Given the description of an element on the screen output the (x, y) to click on. 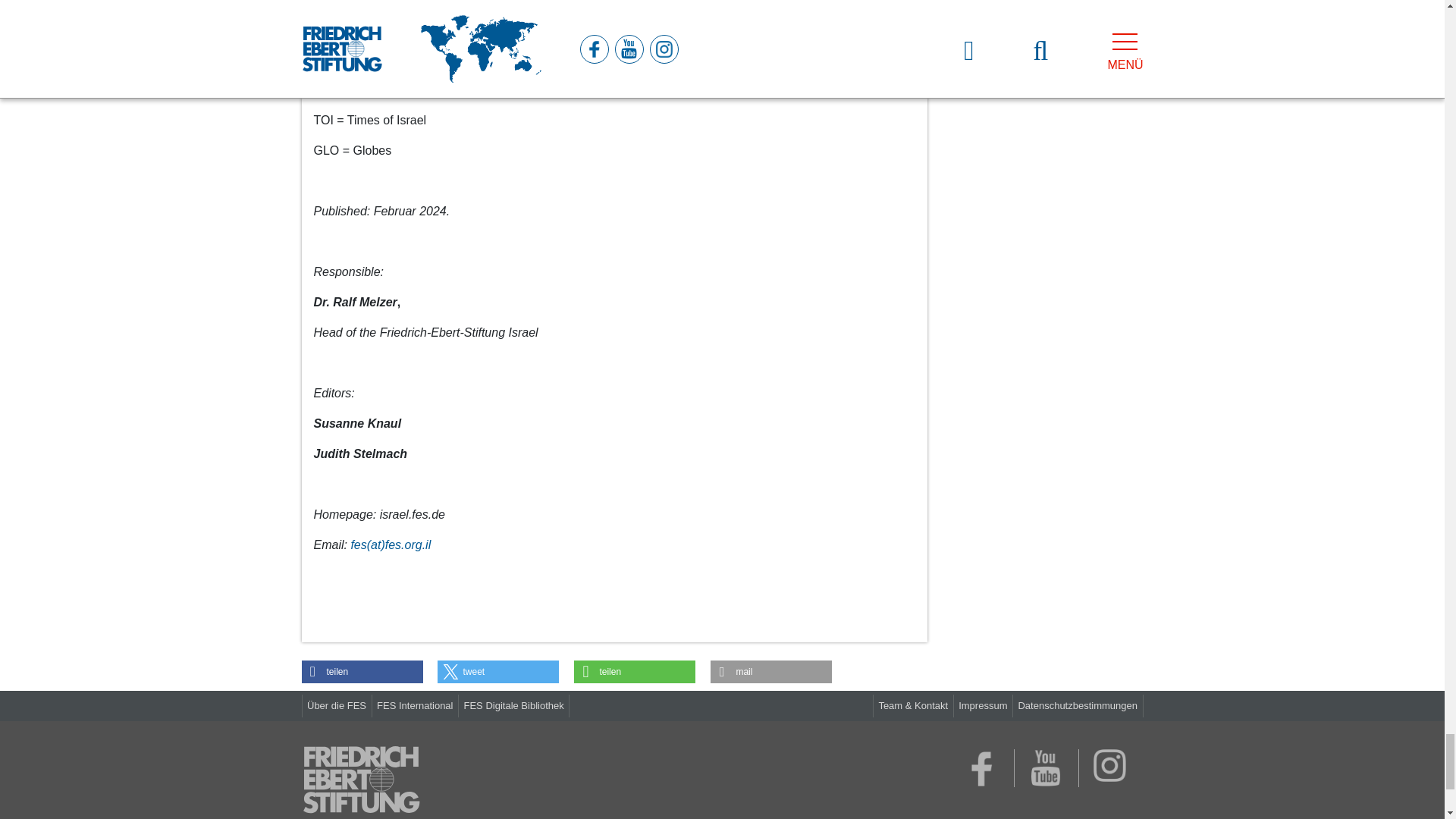
Bei Whatsapp teilen (634, 671)
Bei Facebook teilen (362, 671)
Bei Twitter teilen (498, 671)
Per E-Mail versenden (770, 671)
